Given the description of an element on the screen output the (x, y) to click on. 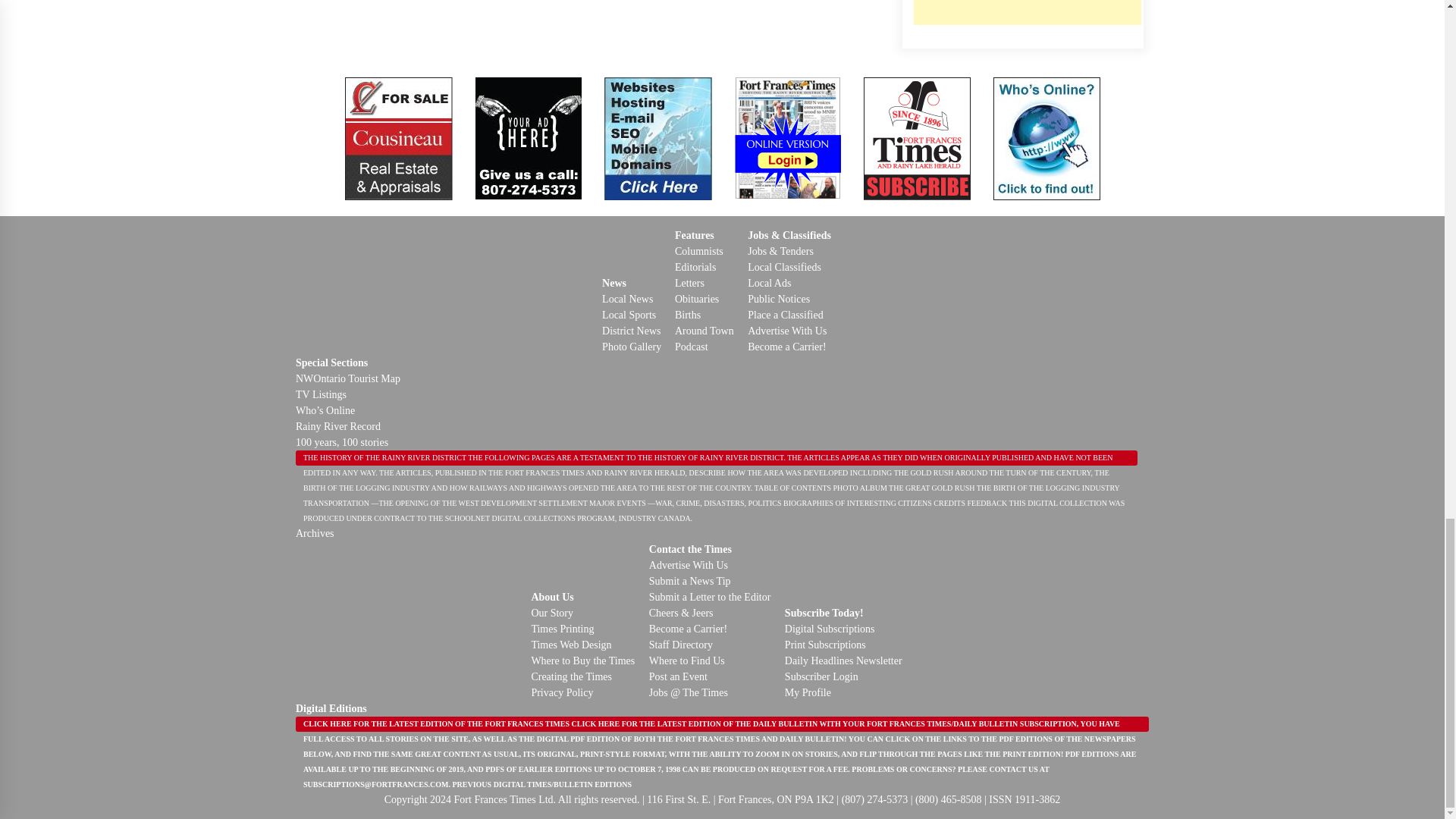
Advertisement (1026, 12)
